Given the description of an element on the screen output the (x, y) to click on. 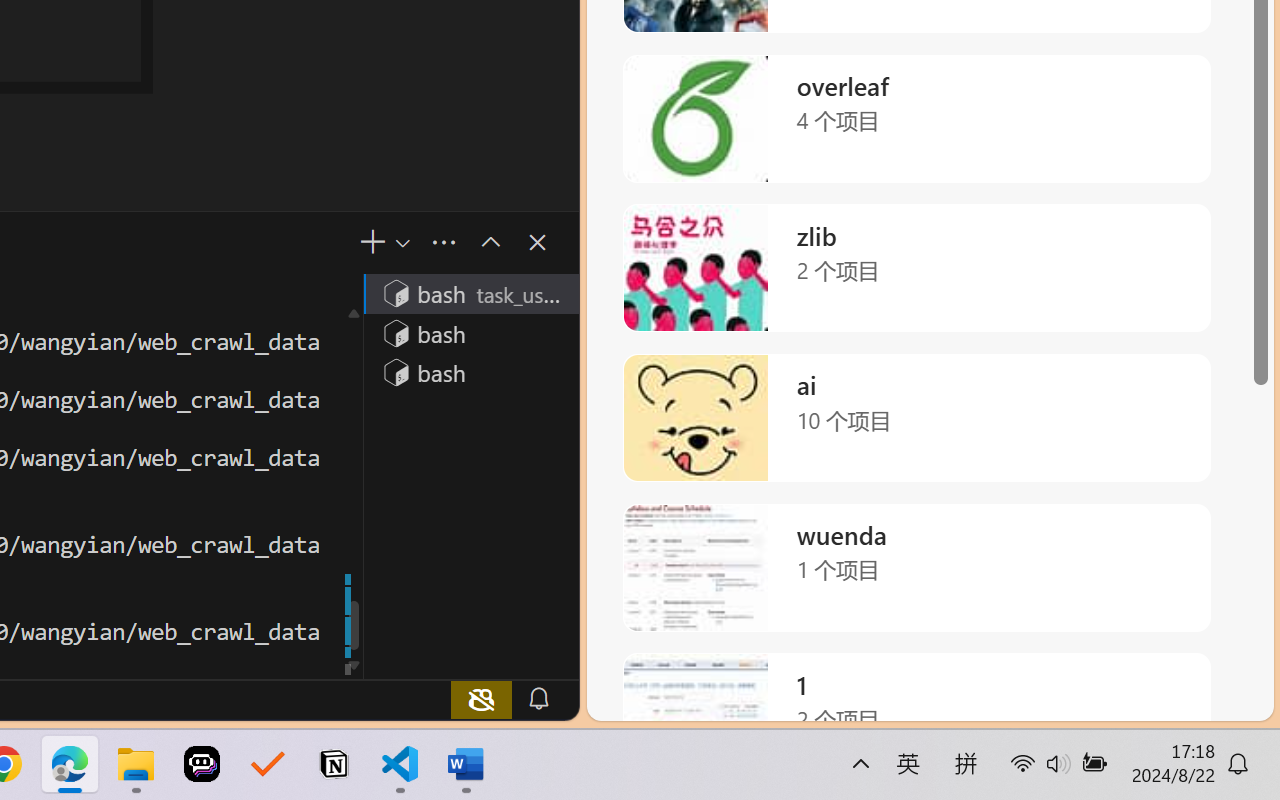
Maximize Panel Size (488, 242)
